Given the description of an element on the screen output the (x, y) to click on. 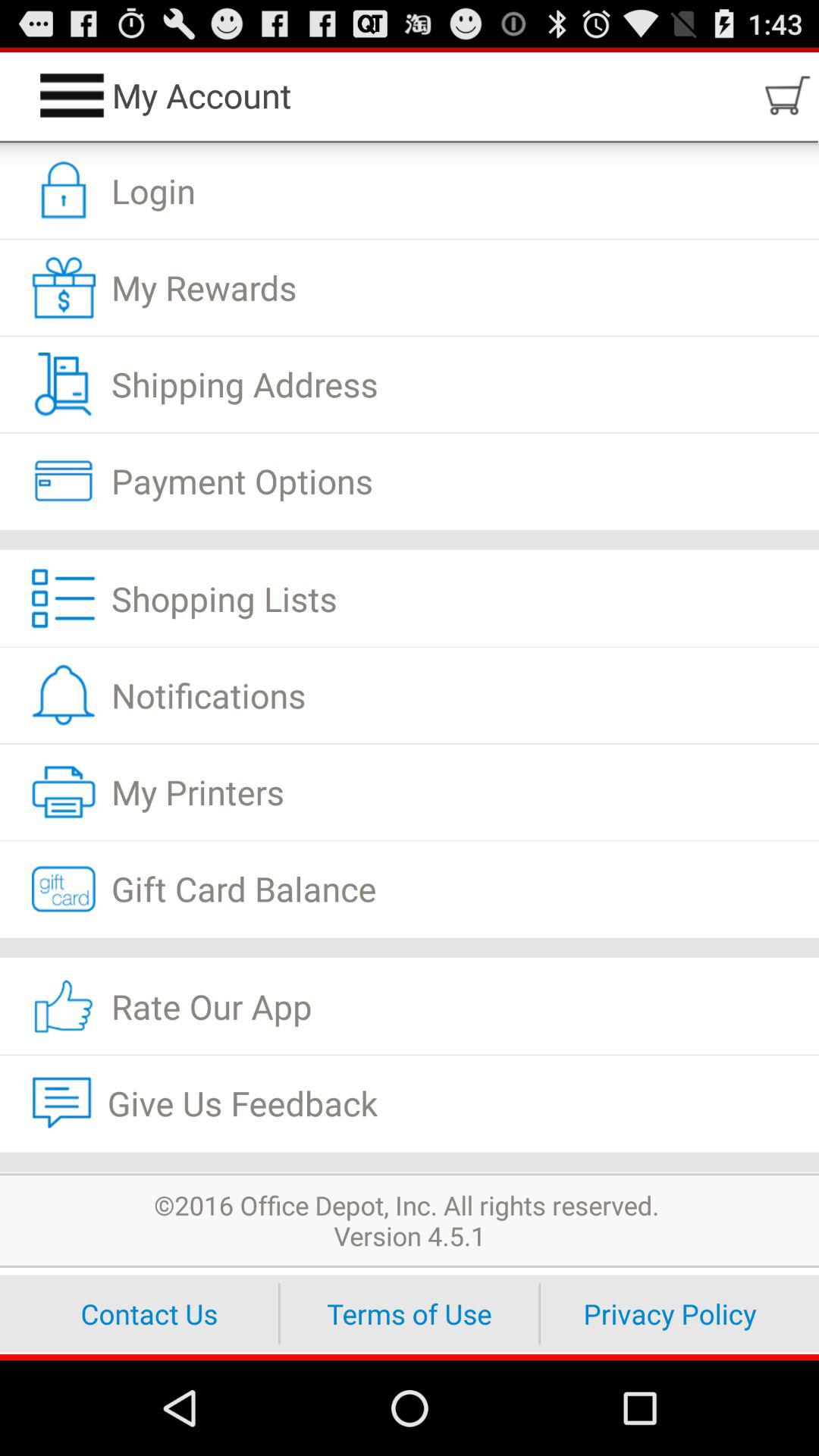
turn off icon at the bottom right corner (669, 1313)
